Given the description of an element on the screen output the (x, y) to click on. 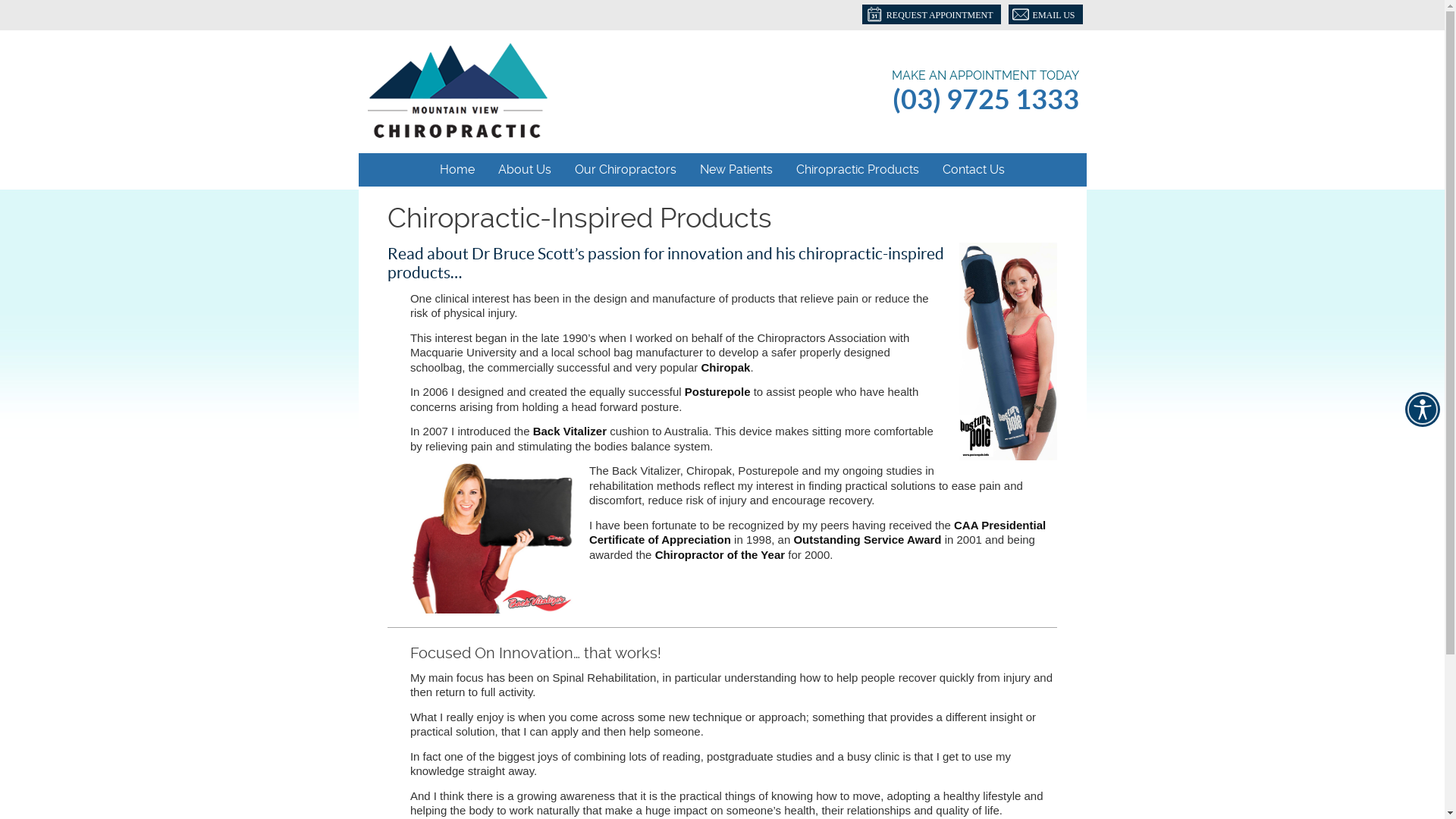
Home Element type: text (457, 169)
Chiropractic Products Element type: text (857, 169)
Contact Us Element type: text (973, 169)
Mountain View Chiropractic Element type: text (456, 133)
REQUEST APPOINTMENT Element type: text (931, 14)
New Patients Element type: text (736, 169)
Posturepole Element type: hover (1008, 350)
EMAIL US Element type: text (1045, 14)
About Us Element type: text (524, 169)
Our Chiropractors Element type: text (625, 169)
